Given the description of an element on the screen output the (x, y) to click on. 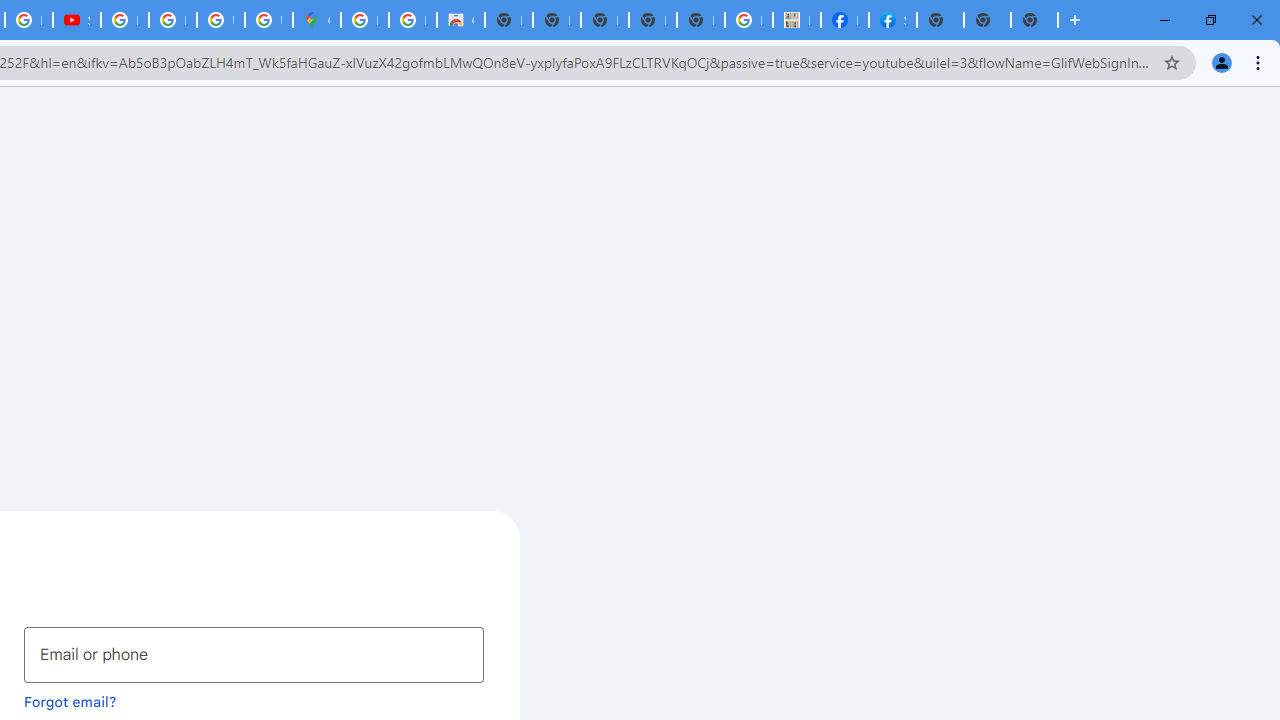
Miley Cyrus | Facebook (844, 20)
Forgot email? (70, 701)
MILEY CYRUS. (796, 20)
